Given the description of an element on the screen output the (x, y) to click on. 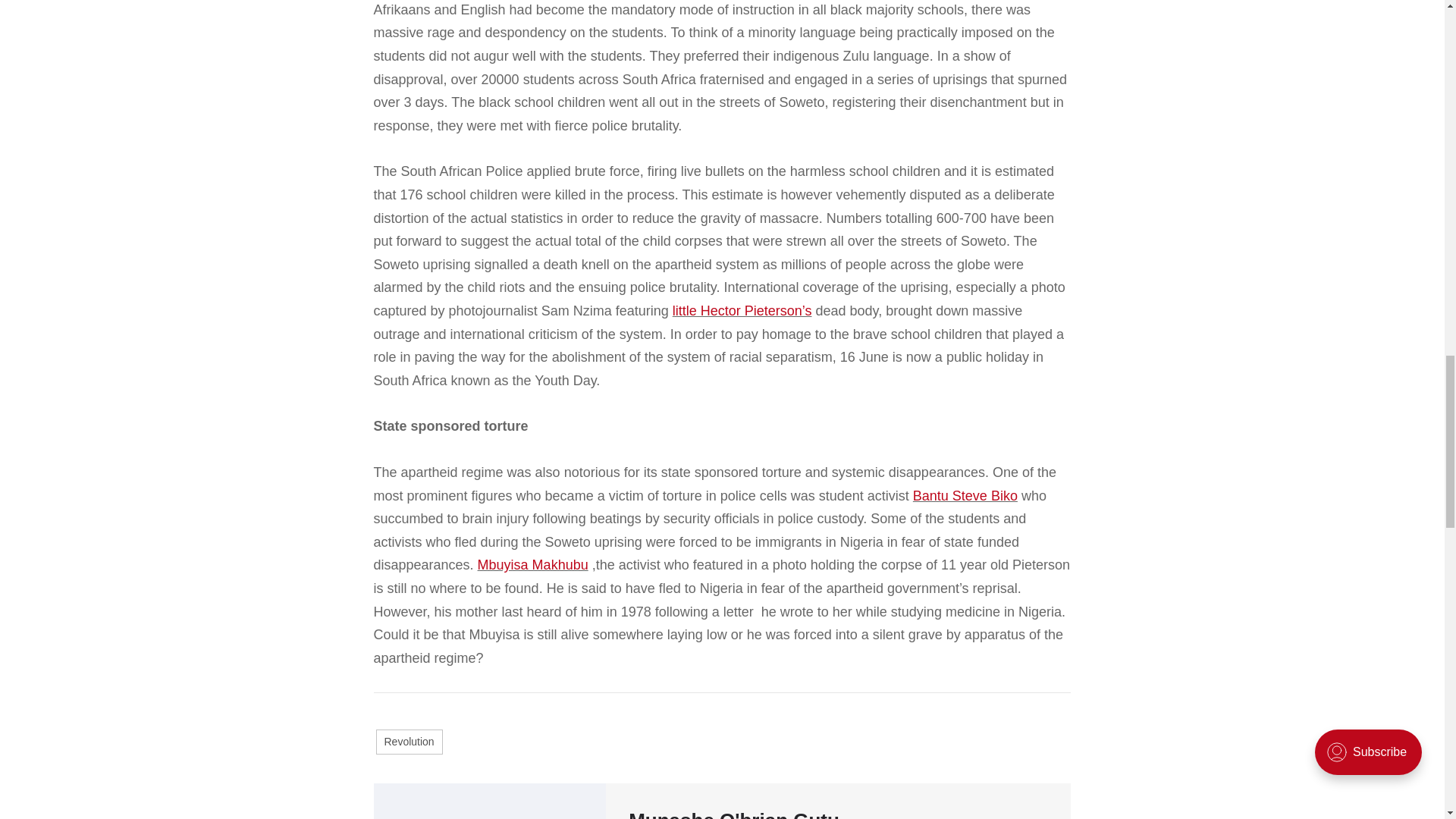
Revolution (408, 741)
Munashe O'brian Gutu (734, 814)
Bantu Steve Biko (964, 495)
Mbuyisa Makhubu (532, 564)
